Given the description of an element on the screen output the (x, y) to click on. 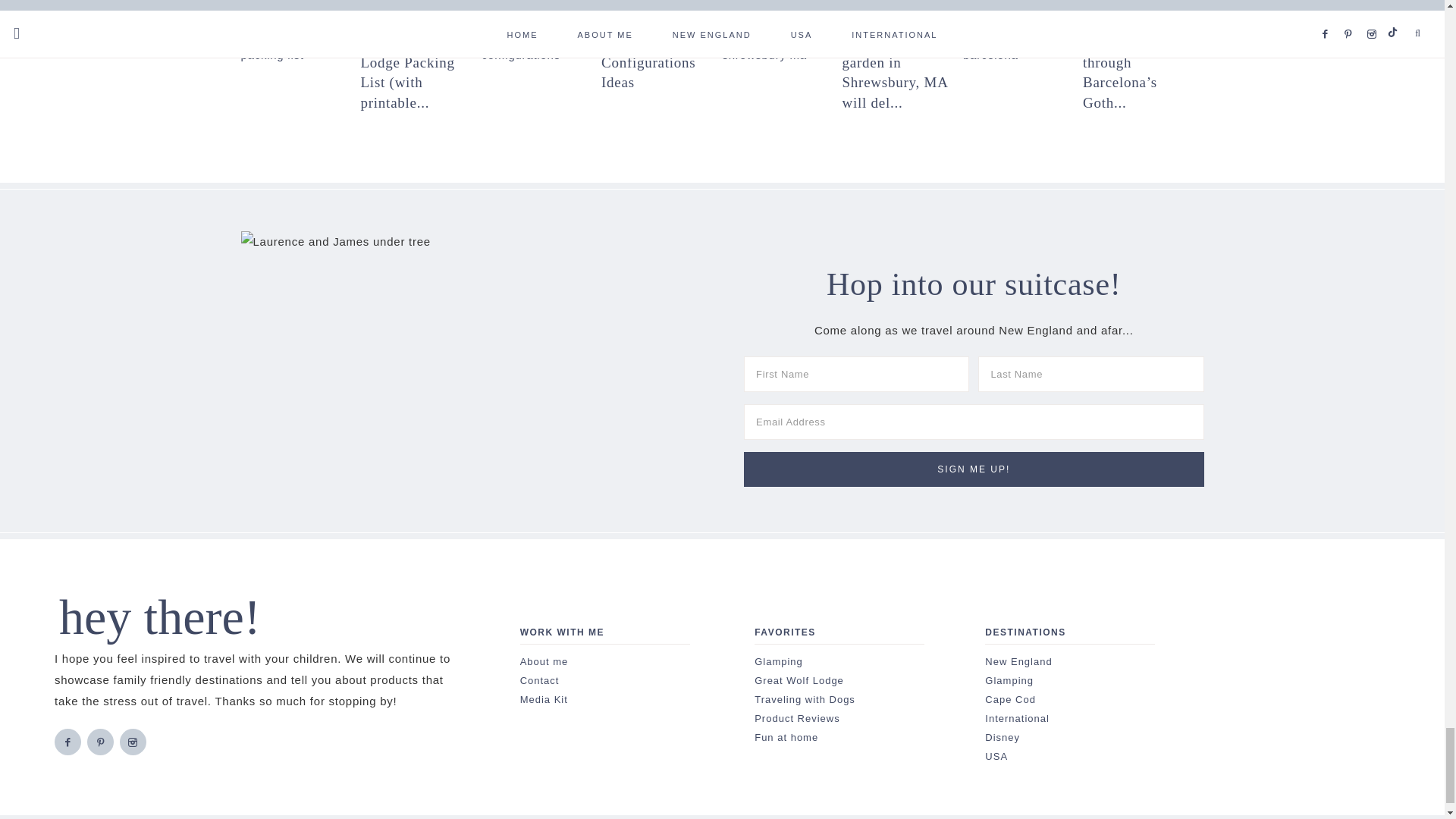
Sign Me Up! (974, 469)
